Given the description of an element on the screen output the (x, y) to click on. 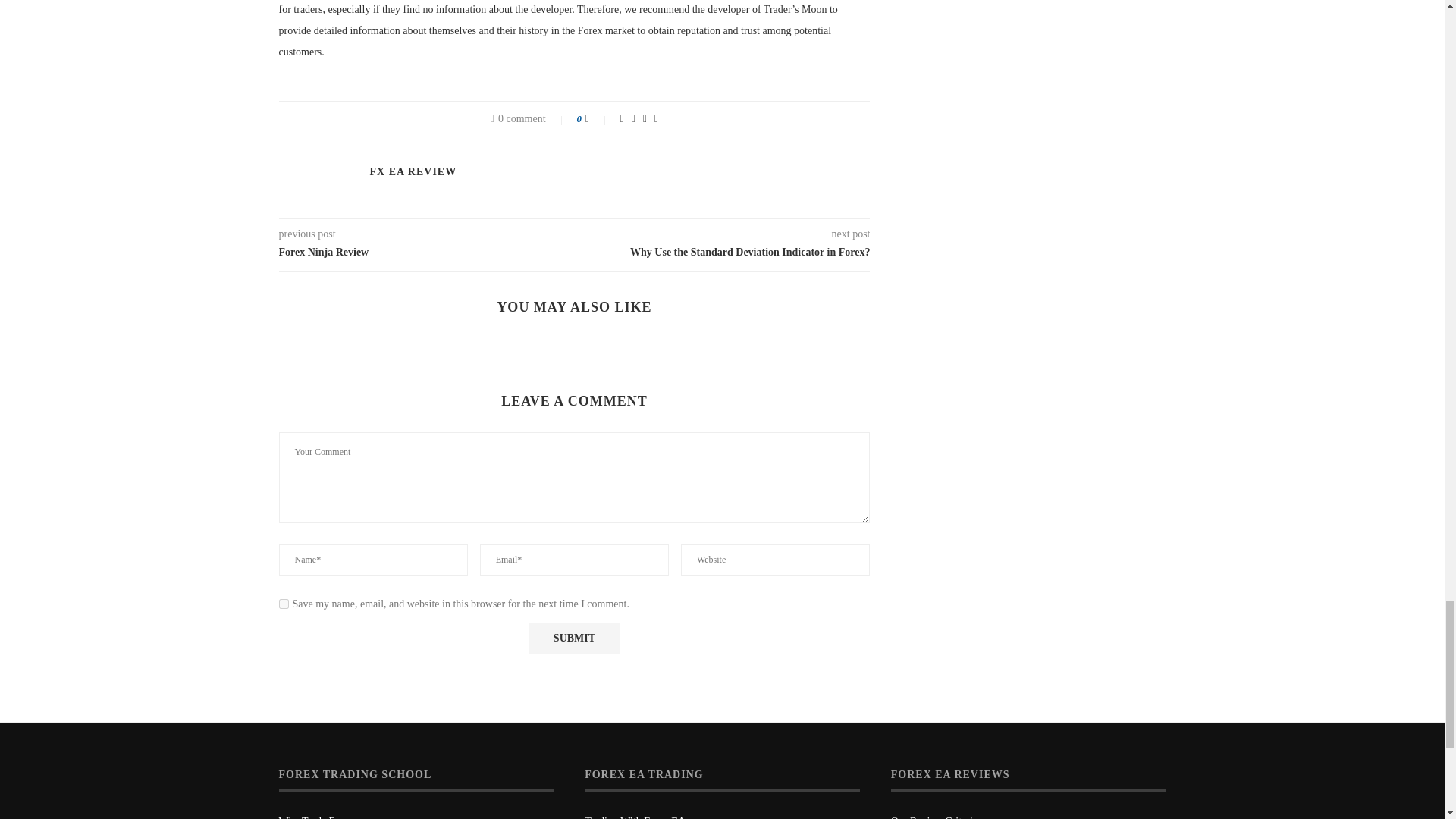
Like (597, 119)
yes (283, 603)
Submit (574, 638)
FX EA REVIEW (413, 172)
Posts by FX EA Review (413, 172)
Forex Ninja Review (427, 252)
